Given the description of an element on the screen output the (x, y) to click on. 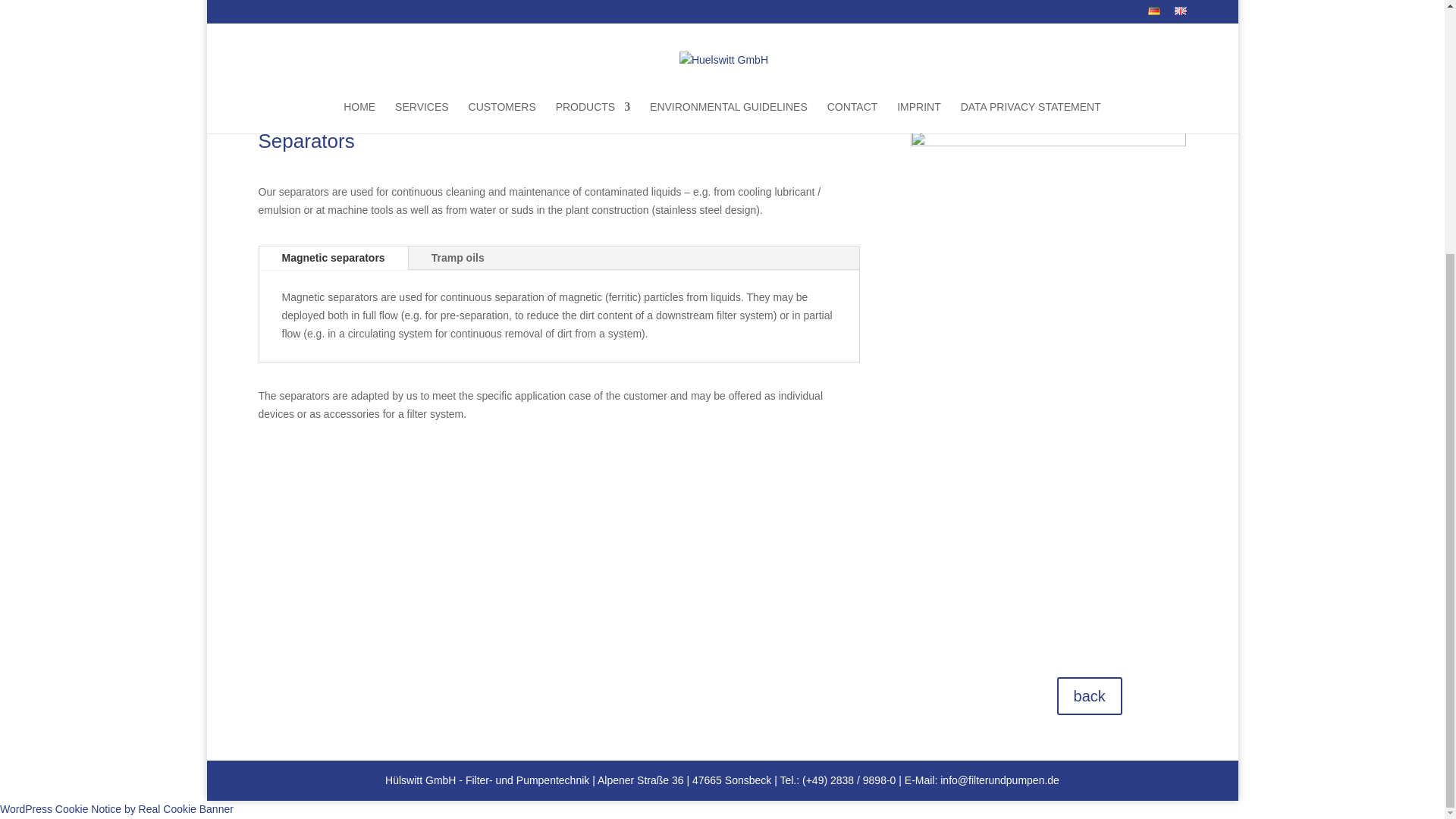
WordPress Cookie Notice by Real Cookie Banner (116, 808)
Tramp oils (457, 258)
Magnetic separators (333, 258)
back (1089, 695)
